Given the description of an element on the screen output the (x, y) to click on. 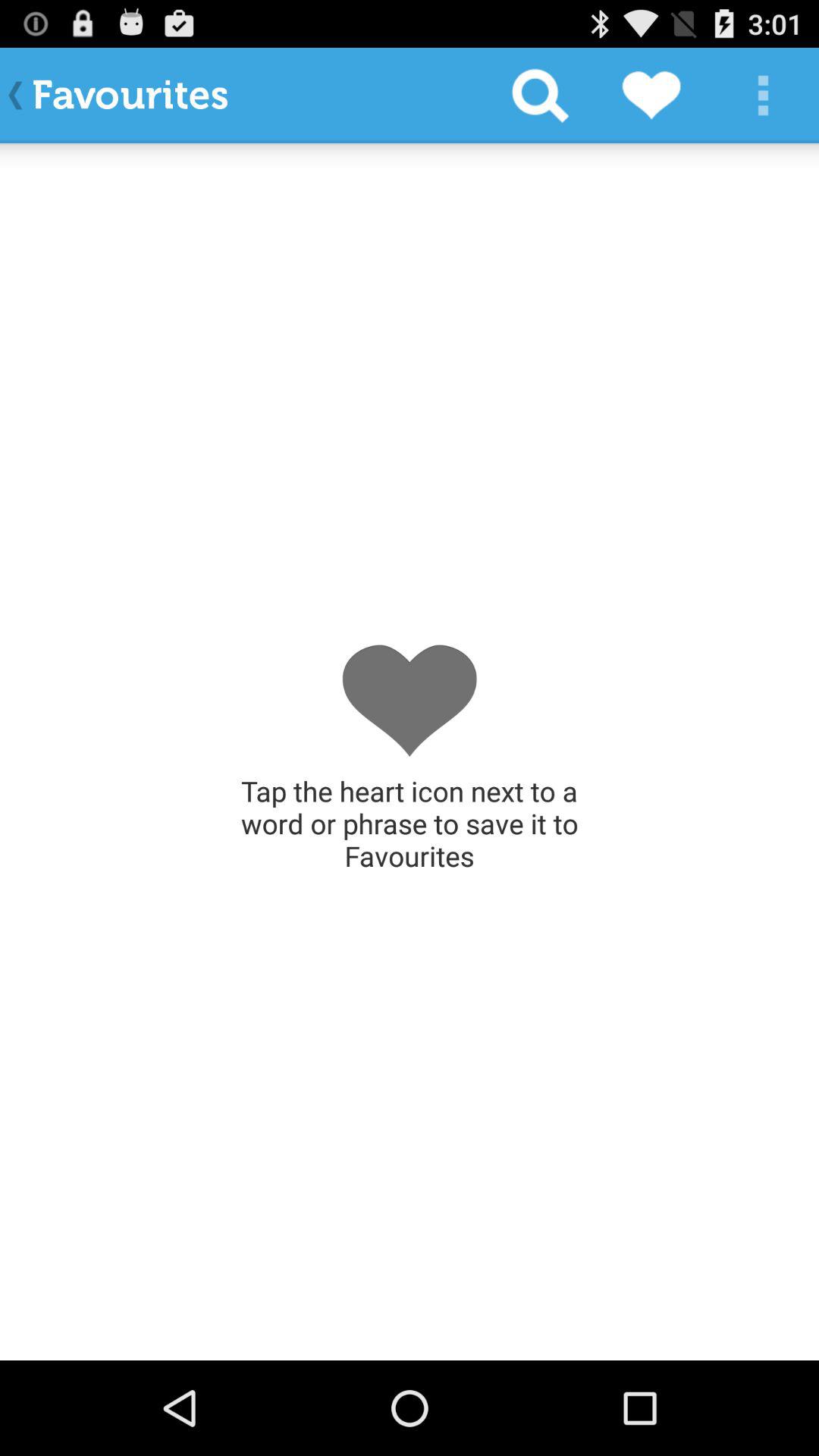
press the icon next to the favourites app (540, 95)
